Given the description of an element on the screen output the (x, y) to click on. 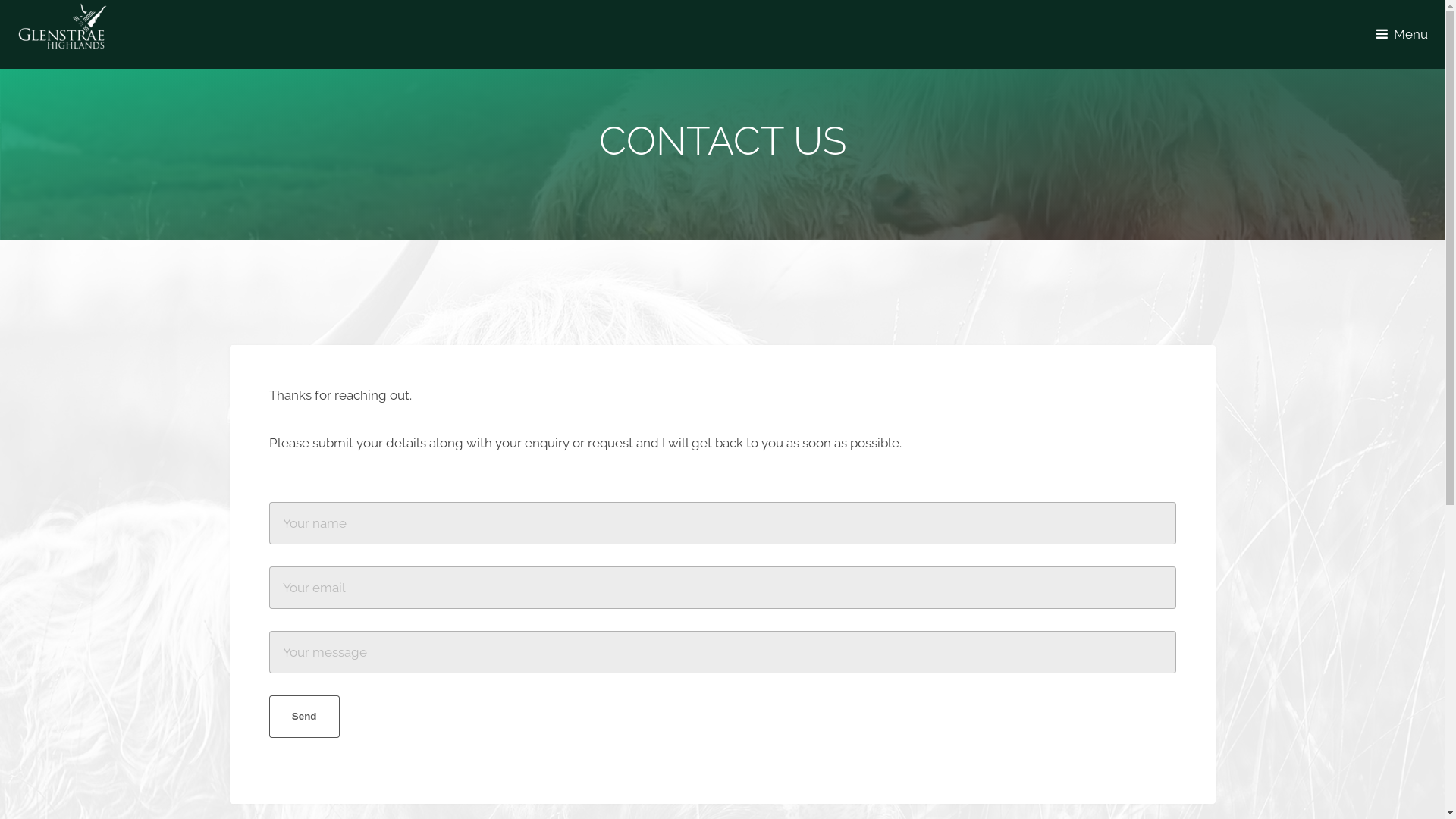
Send Element type: text (303, 716)
Menu Element type: text (1405, 33)
